Given the description of an element on the screen output the (x, y) to click on. 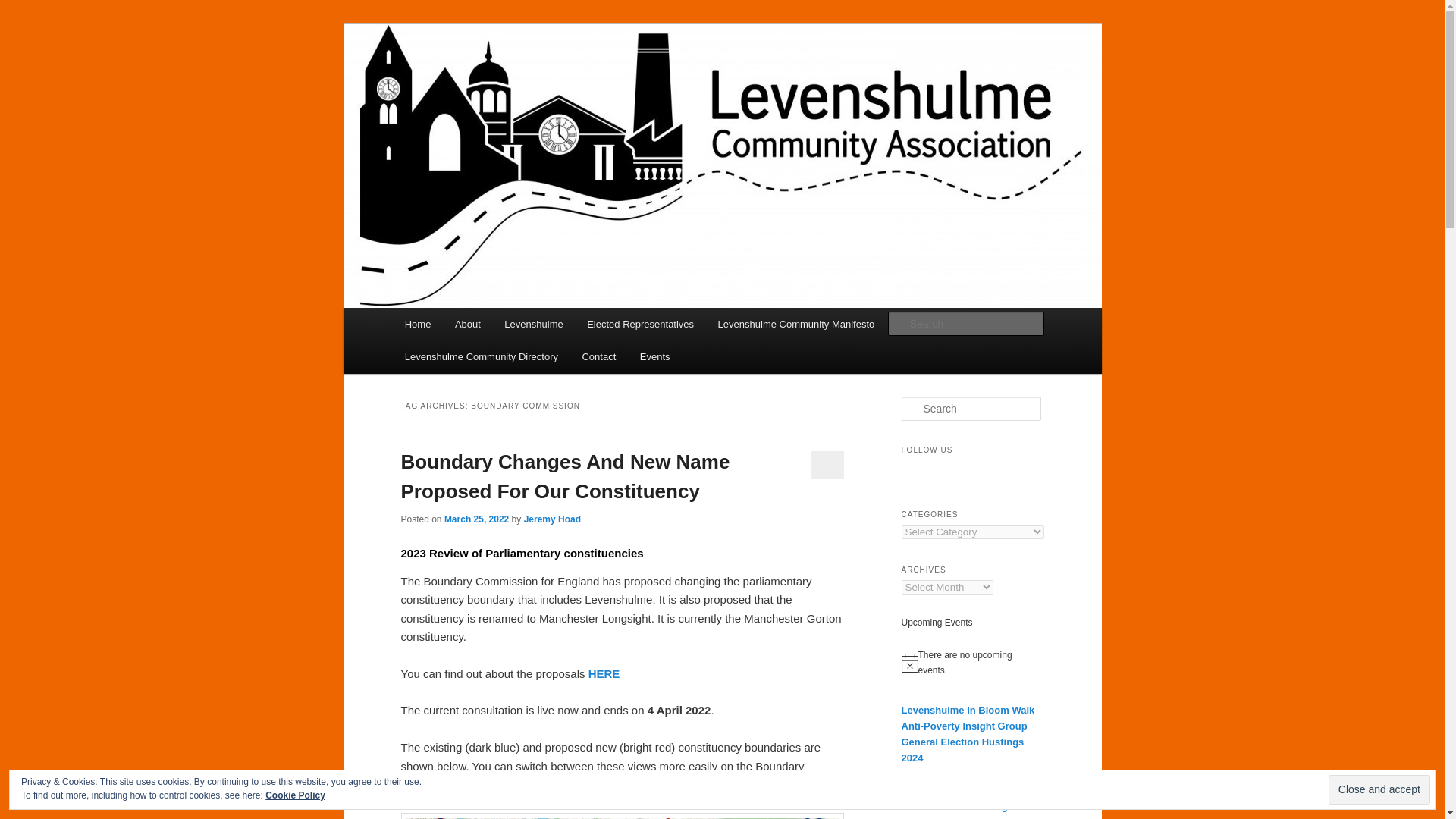
Levenshulme (534, 323)
Home (417, 323)
Close and accept (1378, 789)
Search (24, 8)
Levenshulme Community Manifesto (796, 323)
About (467, 323)
Levenshulme Community Association (605, 78)
Elected Representatives (639, 323)
Levenshulme Community Directory (481, 356)
